Given the description of an element on the screen output the (x, y) to click on. 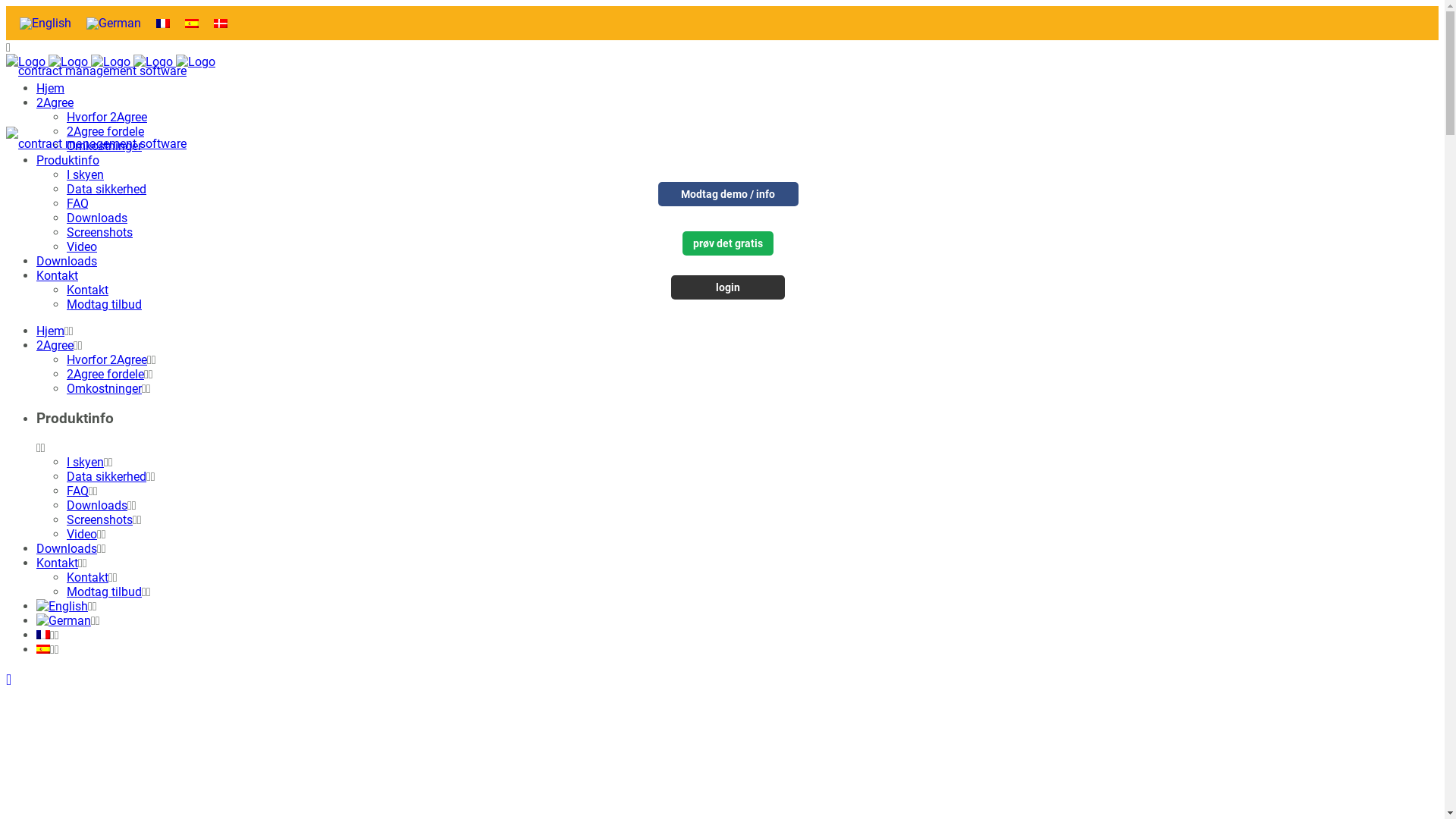
FAQ Element type: text (77, 203)
FAQ Element type: text (77, 490)
Data sikkerhed Element type: text (106, 189)
Kontakt Element type: text (57, 562)
2Agree Element type: text (54, 102)
Modtag tilbud Element type: text (103, 591)
Video Element type: text (81, 246)
Screenshots Element type: text (99, 232)
Kontakt Element type: text (57, 275)
Downloads Element type: text (96, 217)
Screenshots Element type: text (99, 519)
login Element type: text (727, 287)
2Agree Element type: text (54, 345)
Downloads Element type: text (66, 261)
Downloads Element type: text (66, 548)
Hjem Element type: text (50, 88)
Downloads Element type: text (96, 505)
Hjem Element type: text (50, 330)
Modtag tilbud Element type: text (103, 304)
2Agree fordele Element type: text (105, 374)
2Agree fordele Element type: text (105, 131)
I skyen Element type: text (84, 462)
Data sikkerhed Element type: text (106, 476)
I skyen Element type: text (84, 174)
Omkostninger Element type: text (103, 145)
Hvorfor 2Agree Element type: text (106, 359)
Video Element type: text (81, 534)
Omkostninger Element type: text (103, 388)
Kontakt Element type: text (87, 289)
Kontakt Element type: text (87, 577)
Modtag demo / info Element type: text (728, 194)
Hvorfor 2Agree Element type: text (106, 116)
Produktinfo Element type: text (67, 160)
